Given the description of an element on the screen output the (x, y) to click on. 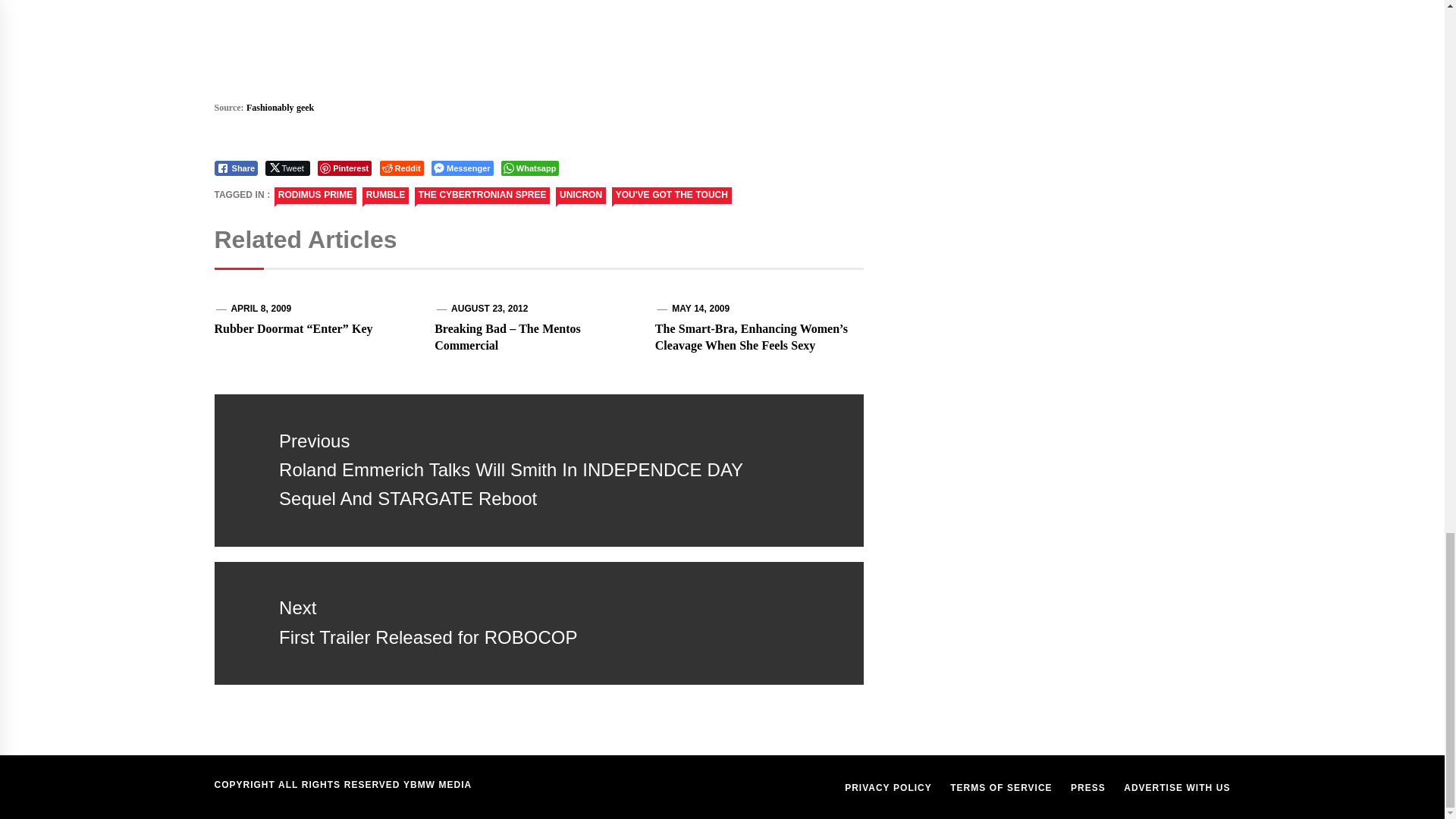
Pinterest (344, 168)
Fashionably geek (280, 107)
Tweet (286, 168)
Messenger (461, 168)
RODIMUS PRIME (315, 195)
RUMBLE (385, 195)
Reddit (401, 168)
THE CYBERTRONIAN SPREE (482, 195)
Share (235, 168)
Whatsapp (529, 168)
